Given the description of an element on the screen output the (x, y) to click on. 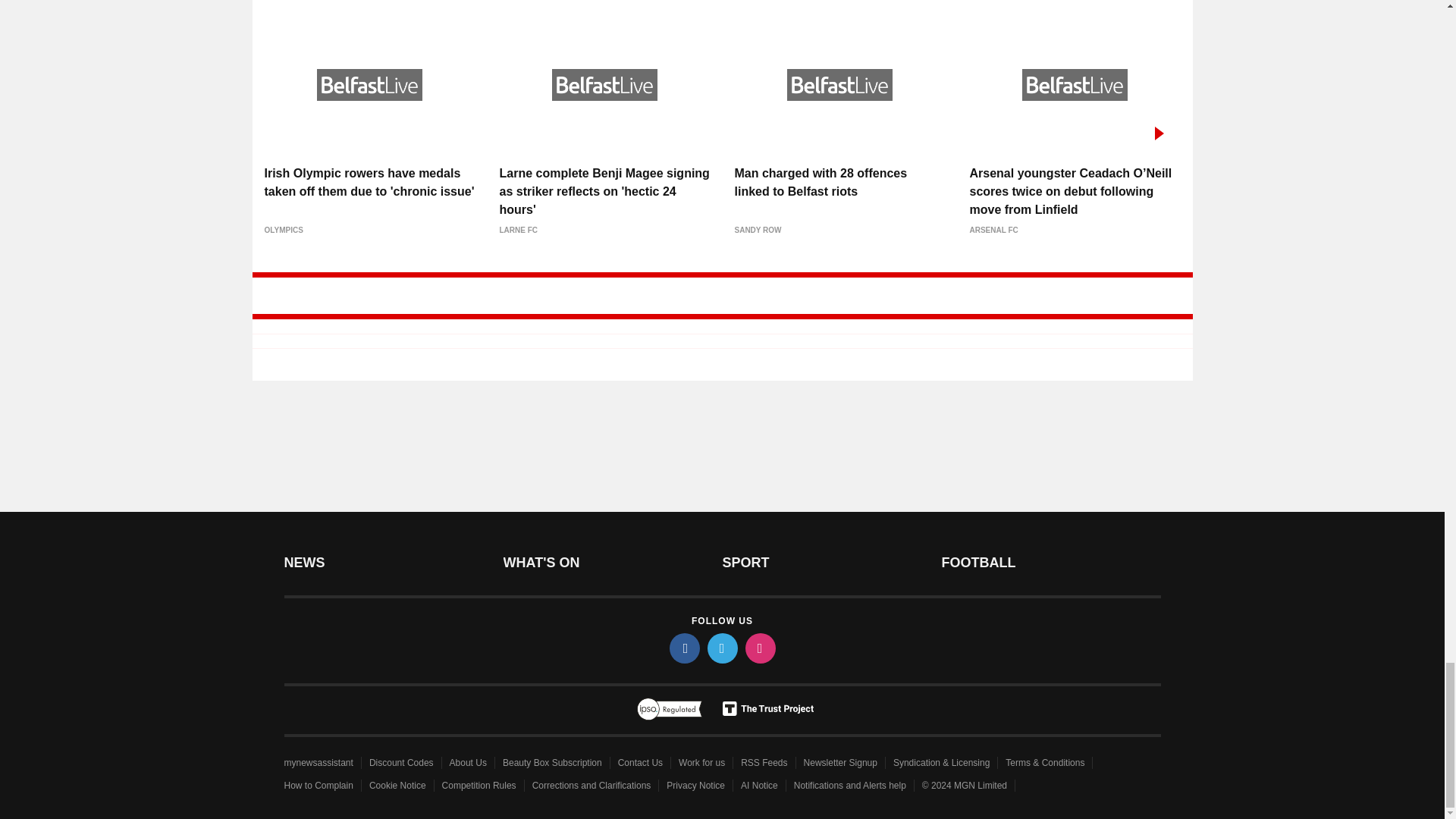
instagram (759, 648)
facebook (683, 648)
twitter (721, 648)
